Given the description of an element on the screen output the (x, y) to click on. 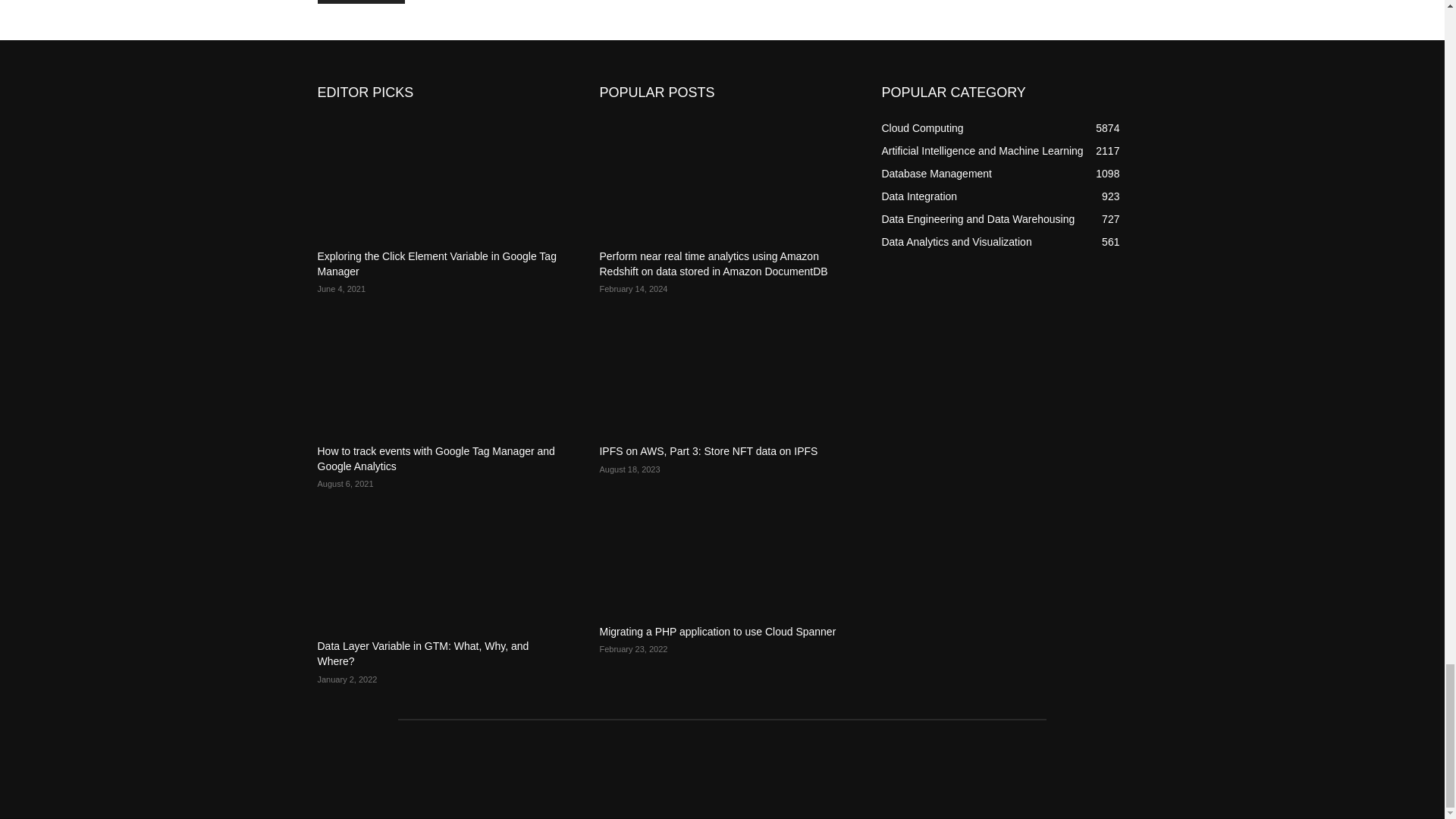
Post Comment (360, 2)
